Given the description of an element on the screen output the (x, y) to click on. 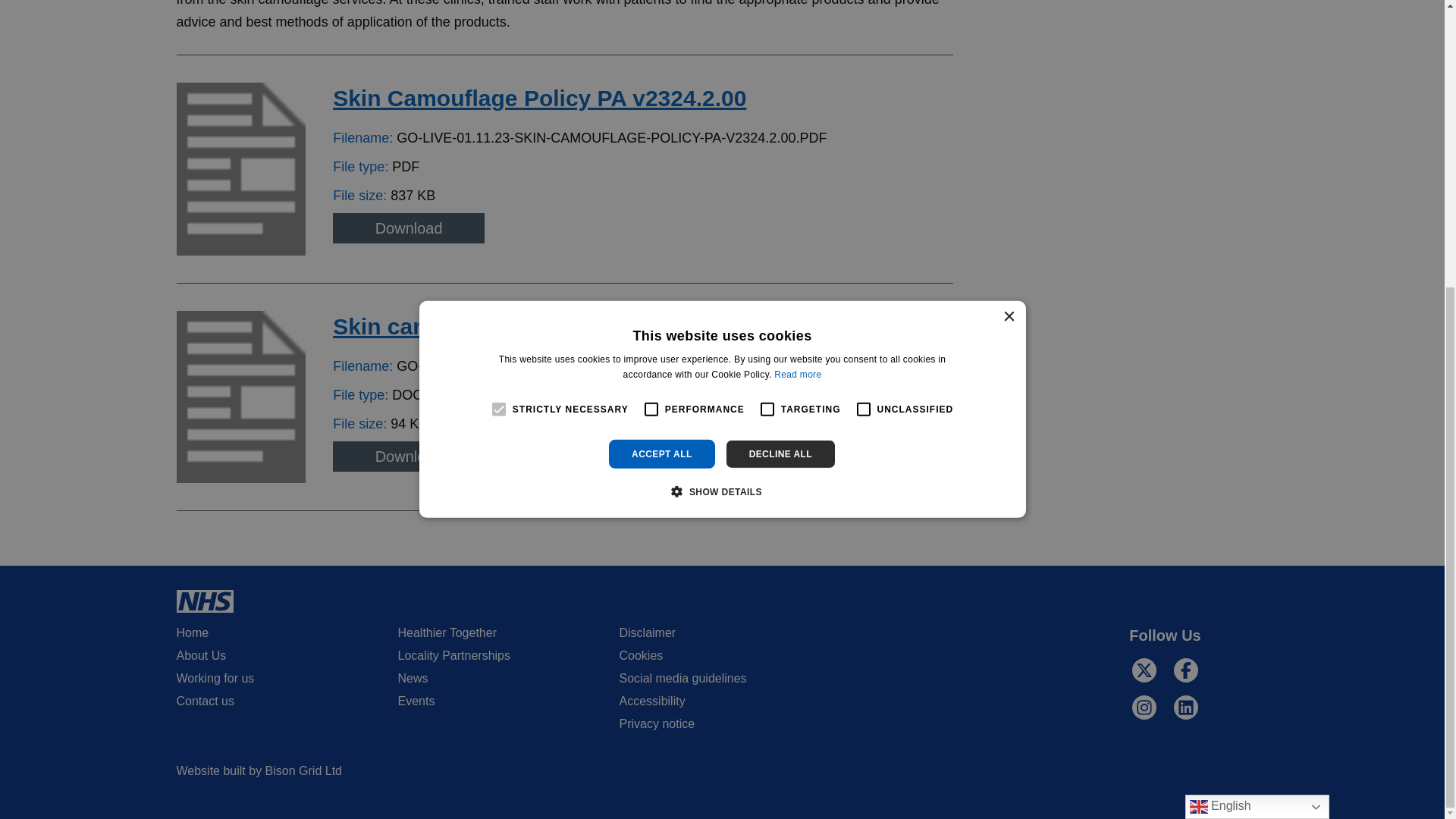
Twitter X (1143, 670)
Facebook (1184, 670)
LinkedIn (1184, 707)
Instagram (1143, 707)
